Given the description of an element on the screen output the (x, y) to click on. 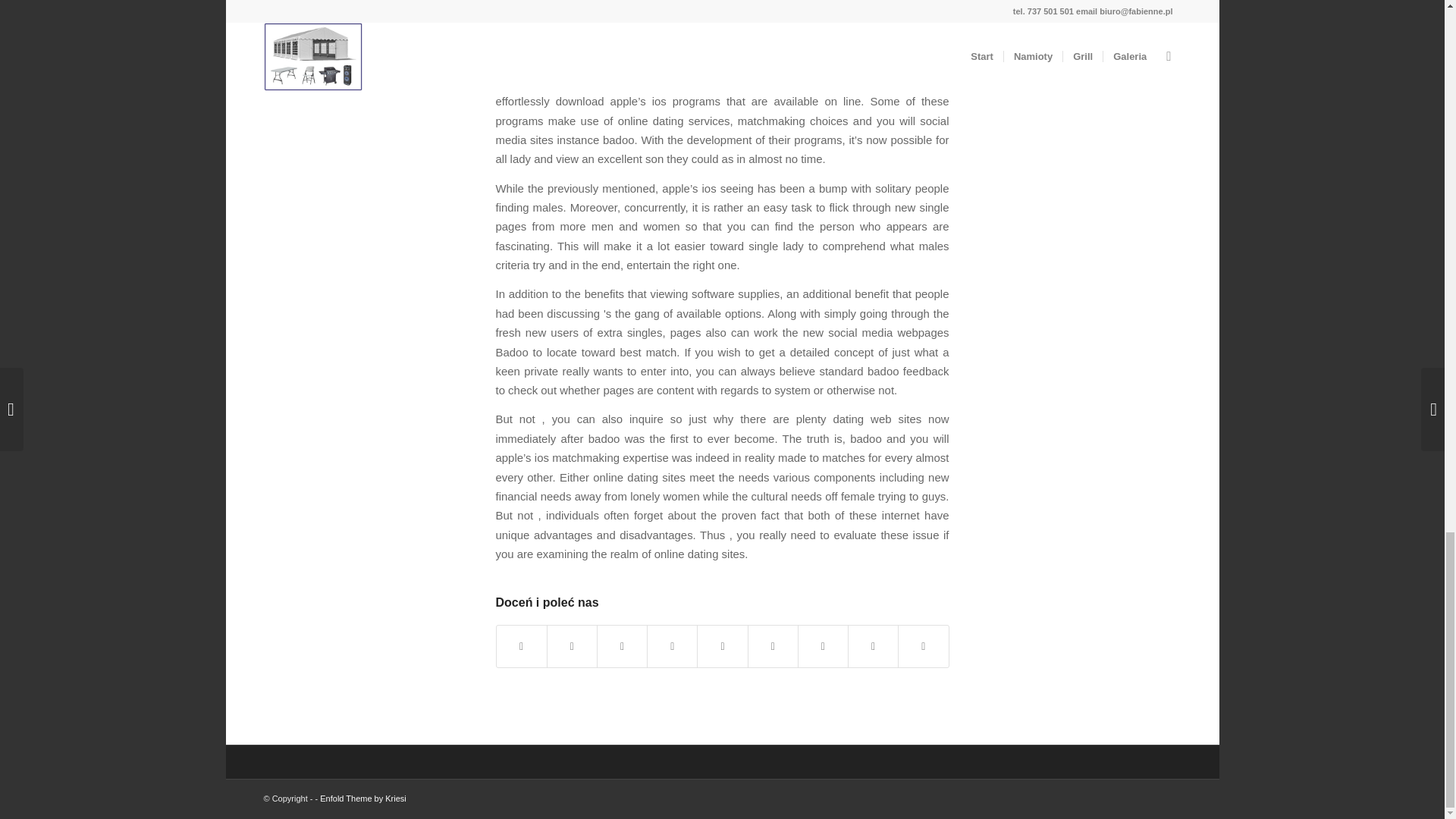
Enfold Theme by Kriesi (363, 798)
